Given the description of an element on the screen output the (x, y) to click on. 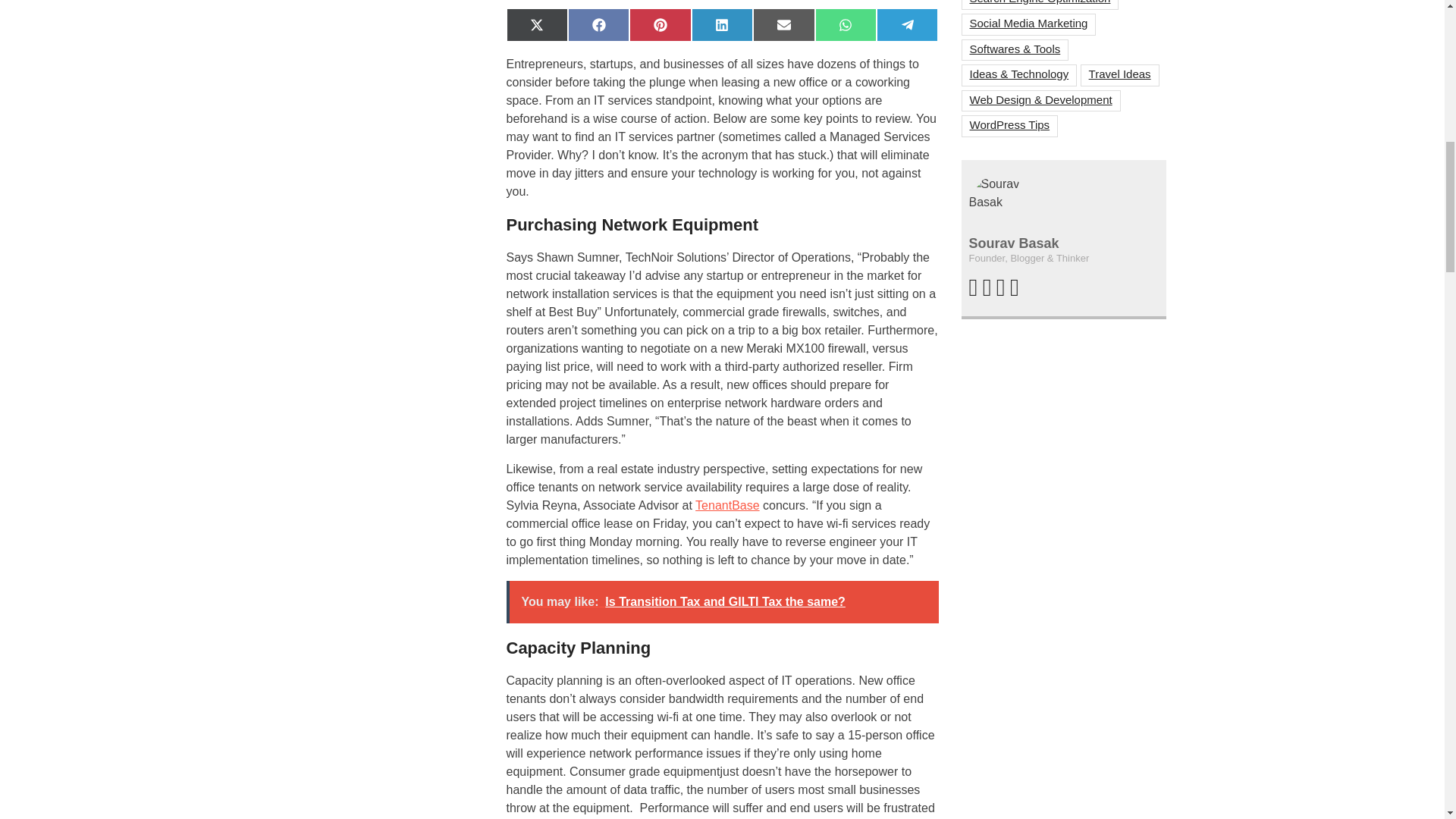
Share on Email (782, 24)
Share on WhatsApp (845, 24)
Share on LinkedIn (721, 24)
Share on Facebook (597, 24)
Share on Pinterest (659, 24)
